Given the description of an element on the screen output the (x, y) to click on. 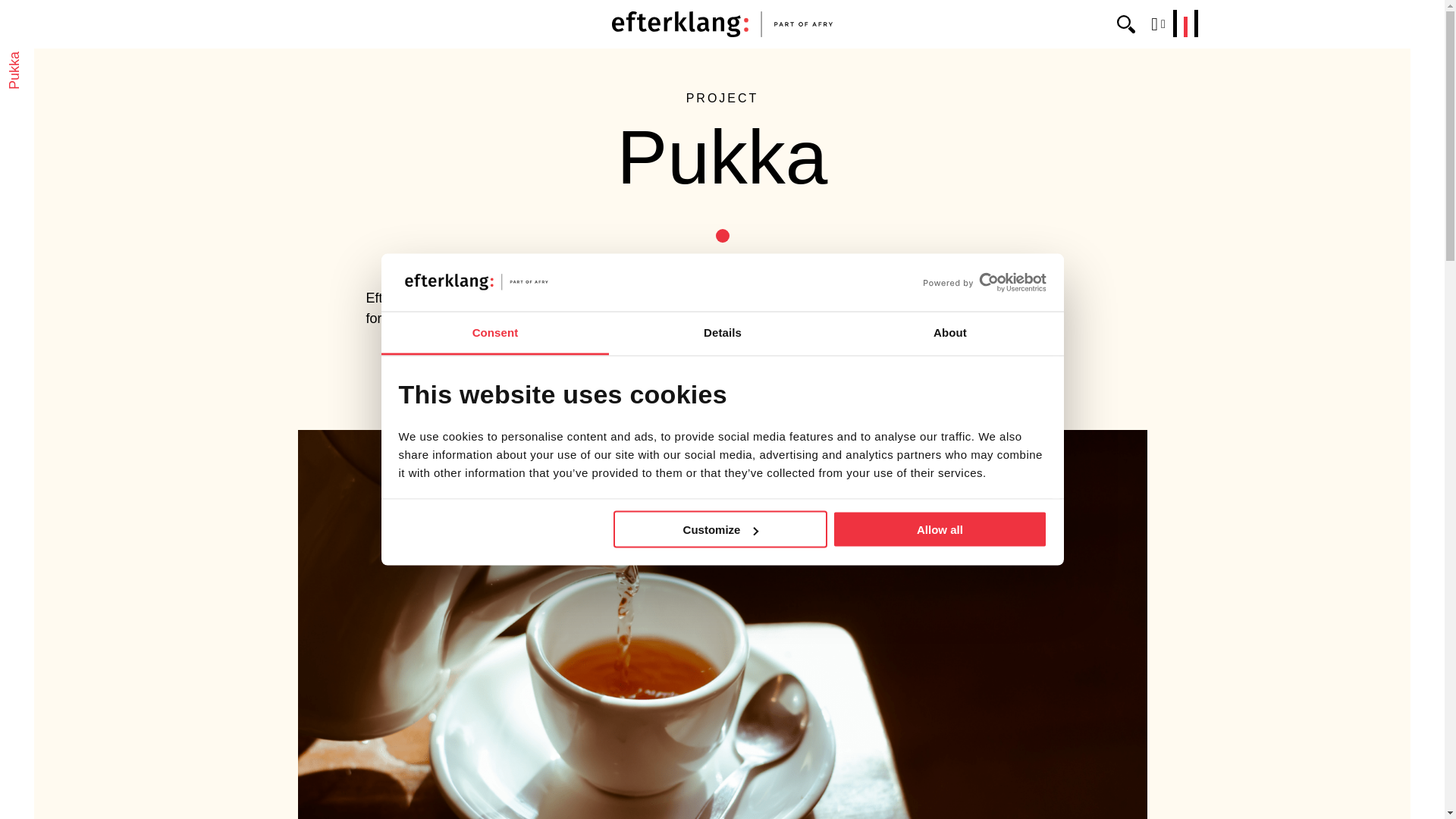
Details (721, 333)
Consent (494, 333)
Efterklang (721, 23)
About (948, 333)
Customize (719, 529)
Allow all (939, 529)
